Given the description of an element on the screen output the (x, y) to click on. 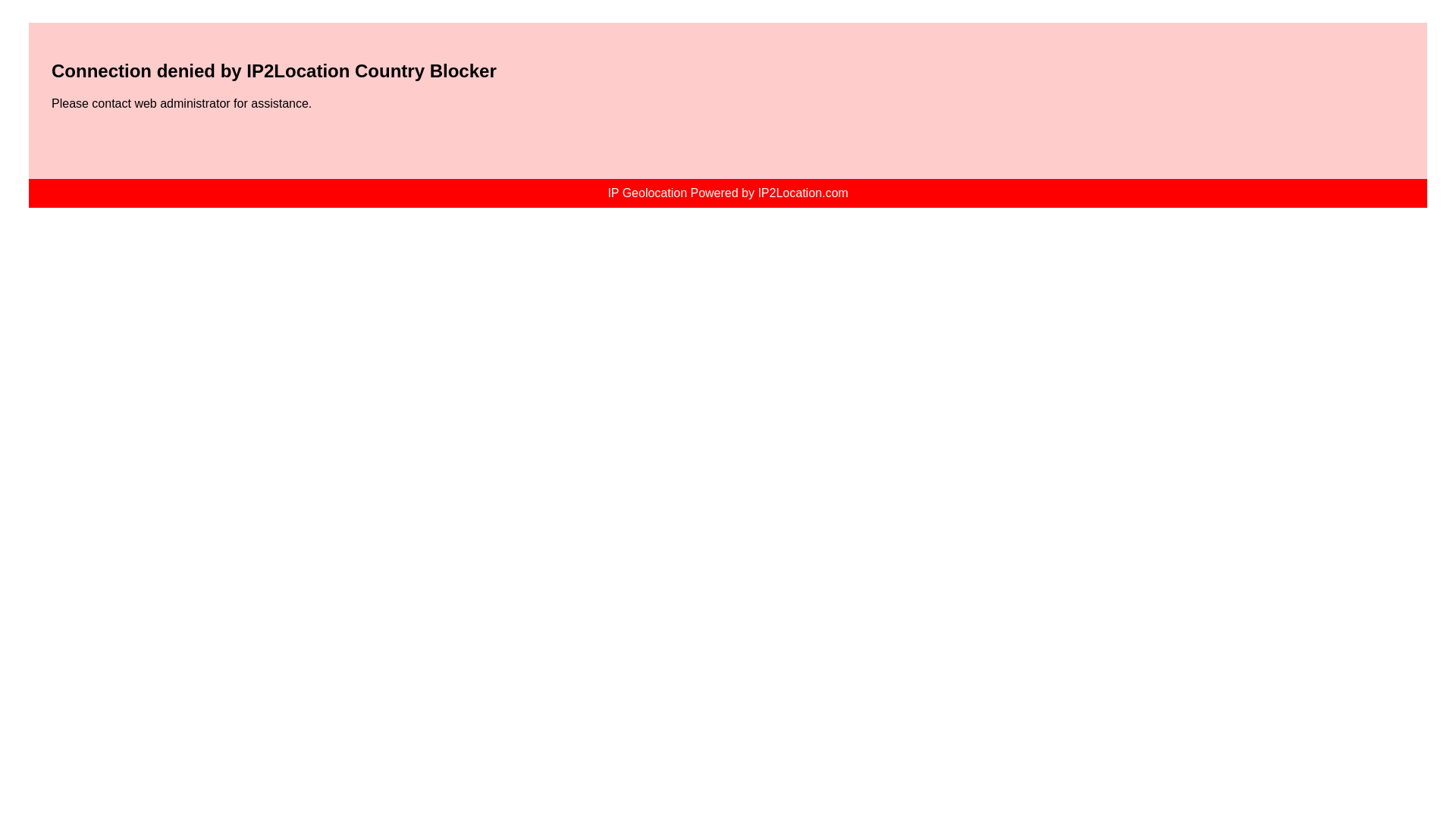
IP Geolocation Powered by IP2Location.com Element type: text (727, 192)
